Given the description of an element on the screen output the (x, y) to click on. 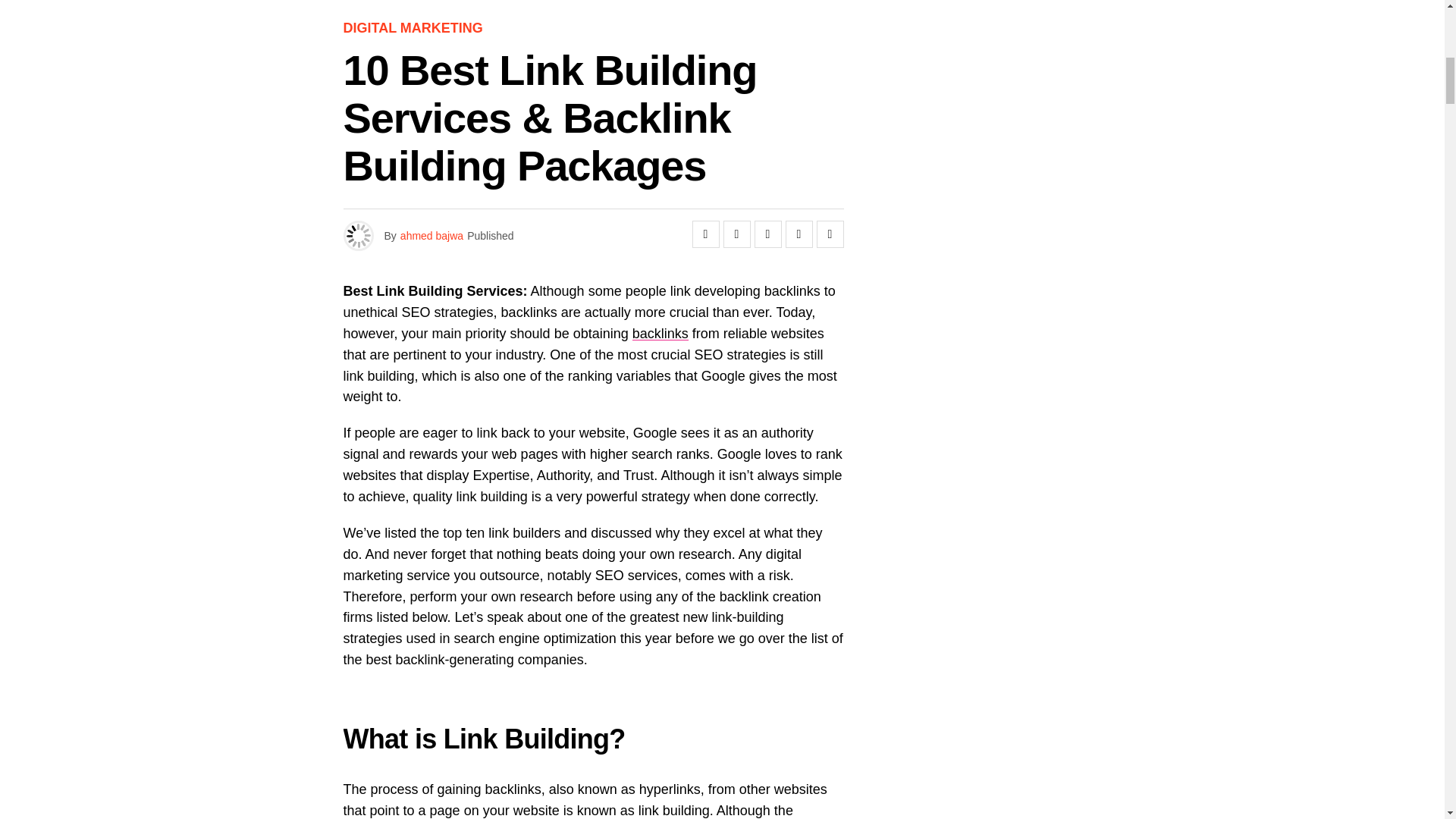
Tweet This Post (737, 234)
Share on Facebook (705, 234)
Posts by ahmed bajwa (431, 235)
Share on Flipboard (767, 234)
